Given the description of an element on the screen output the (x, y) to click on. 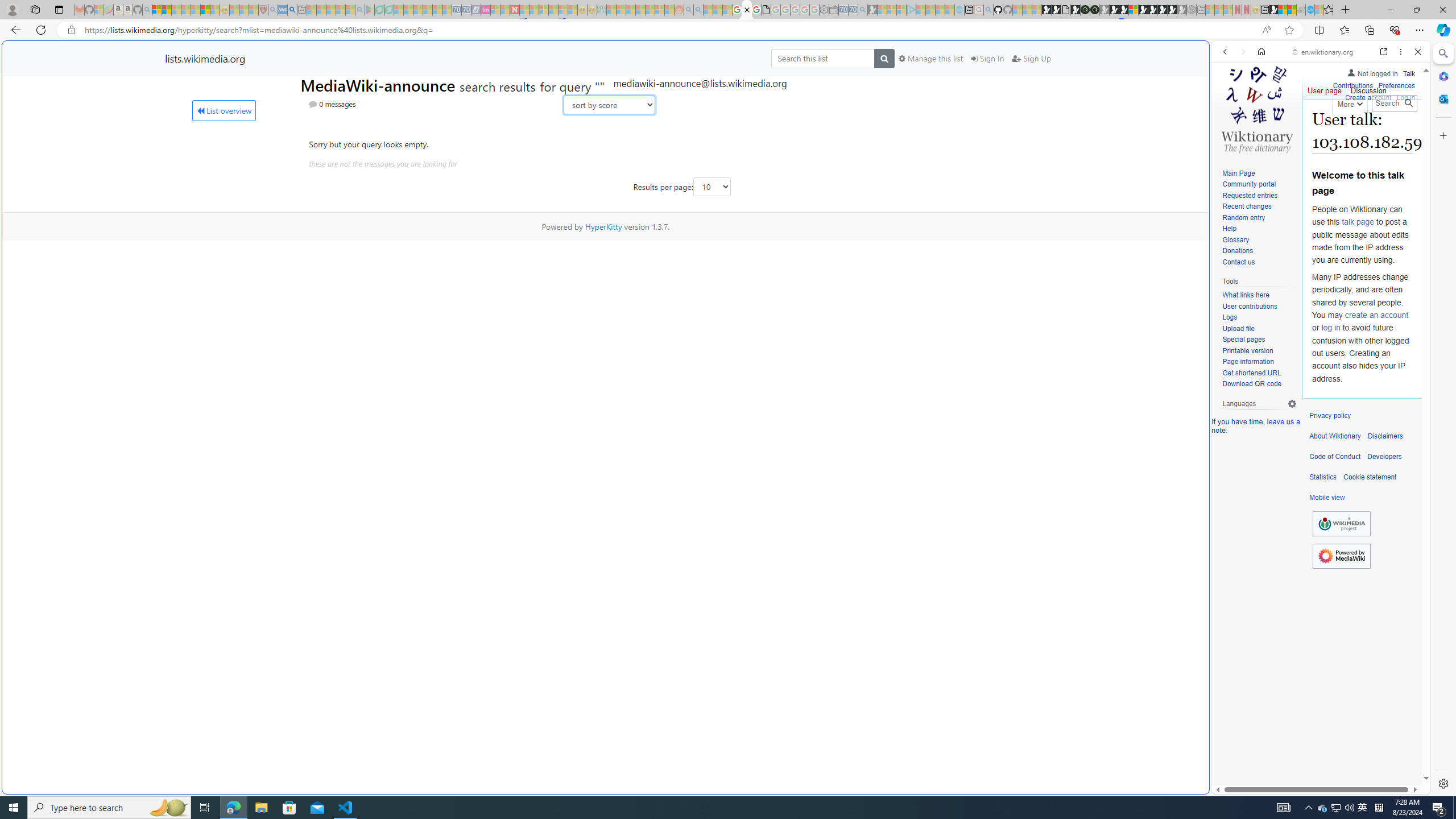
Talk (1408, 71)
Not logged in (1371, 71)
Community portal (1259, 184)
